Given the description of an element on the screen output the (x, y) to click on. 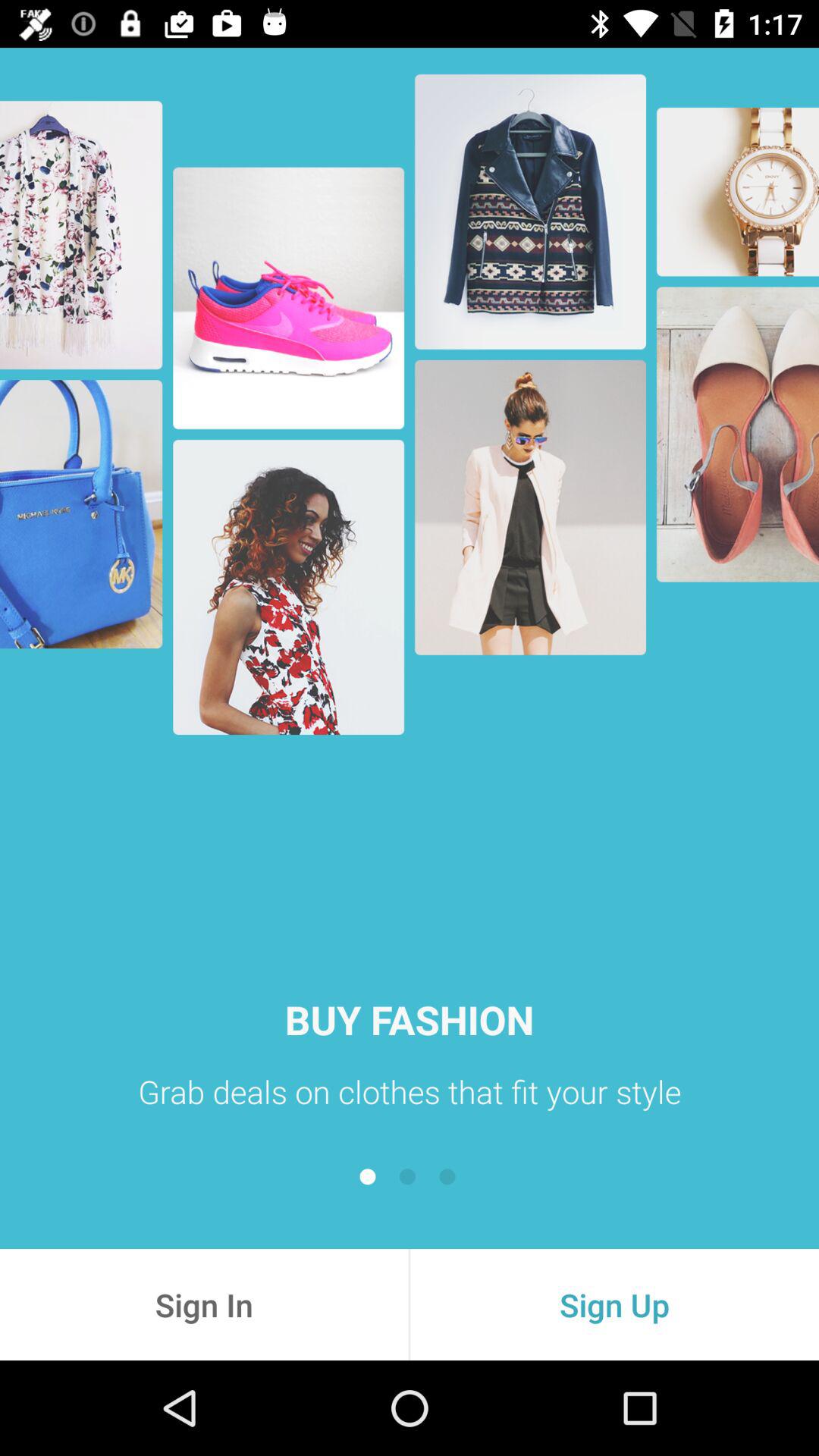
click sign in item (204, 1304)
